Given the description of an element on the screen output the (x, y) to click on. 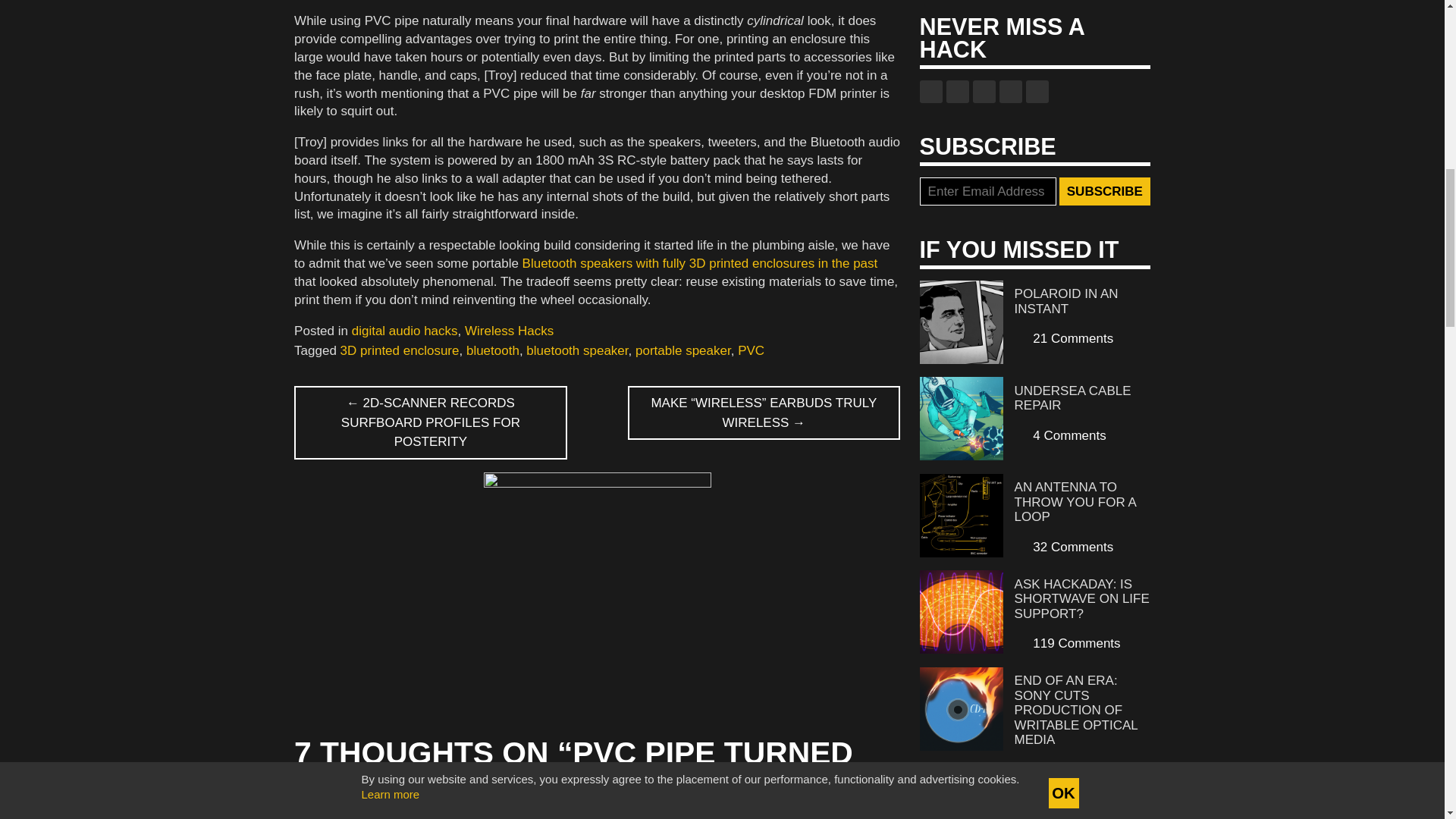
PVC (751, 350)
3D printed enclosure (400, 350)
bluetooth speaker (576, 350)
bluetooth (492, 350)
Wireless Hacks (508, 330)
digital audio hacks (405, 330)
Subscribe (1104, 191)
portable speaker (682, 350)
